Given the description of an element on the screen output the (x, y) to click on. 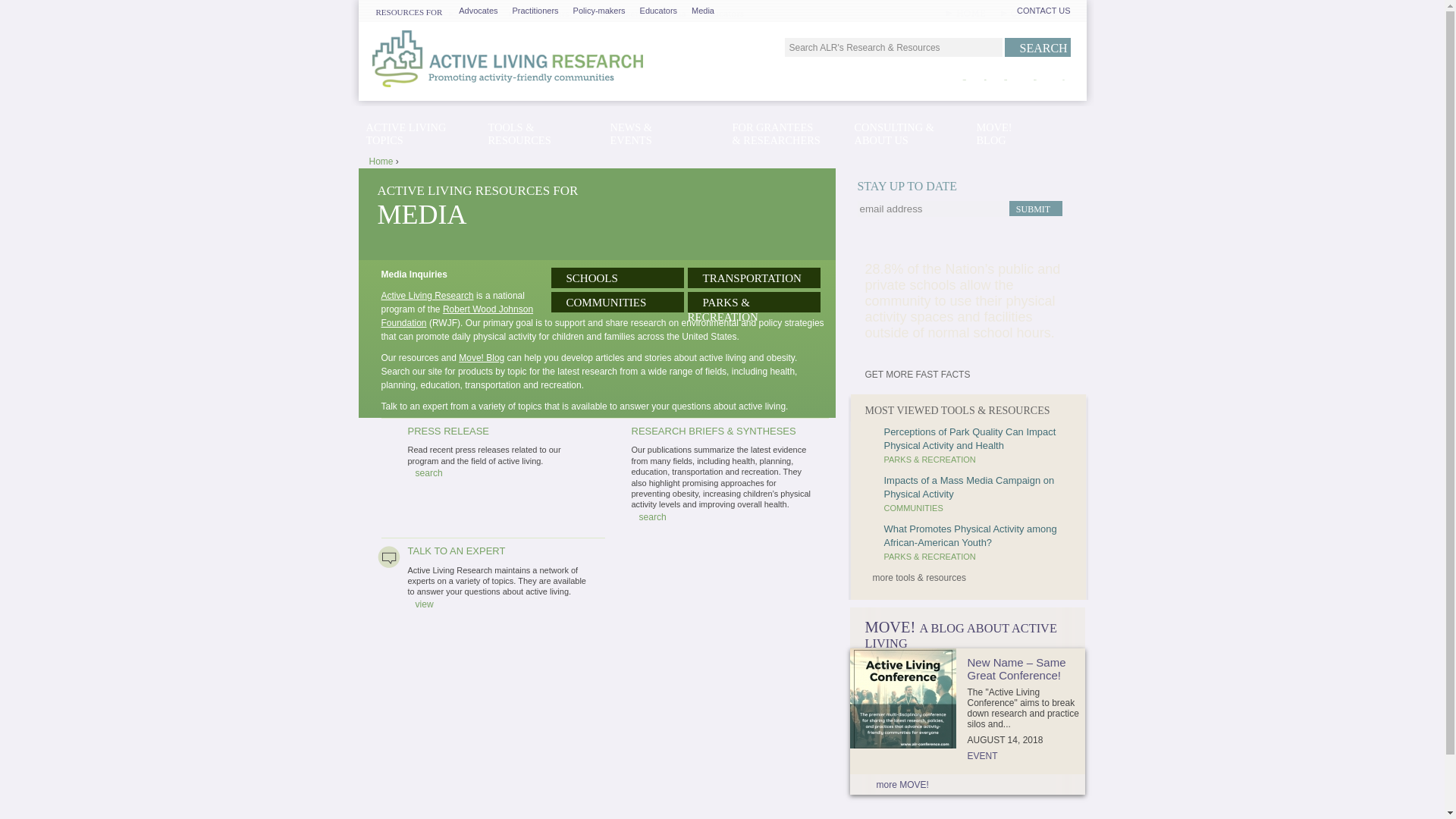
Home (521, 58)
SCHOOLS (587, 277)
Move! Blog (480, 357)
Home (380, 161)
Policy-makers (595, 10)
facebook (964, 79)
COMMUNITIES (601, 302)
email address (932, 208)
GET MORE FAST FACTS (911, 374)
Active Living Research (426, 295)
view (420, 603)
COMMUNITIES (913, 507)
linkedin (1005, 79)
search (647, 516)
TALK TO AN EXPERT (456, 550)
